Given the description of an element on the screen output the (x, y) to click on. 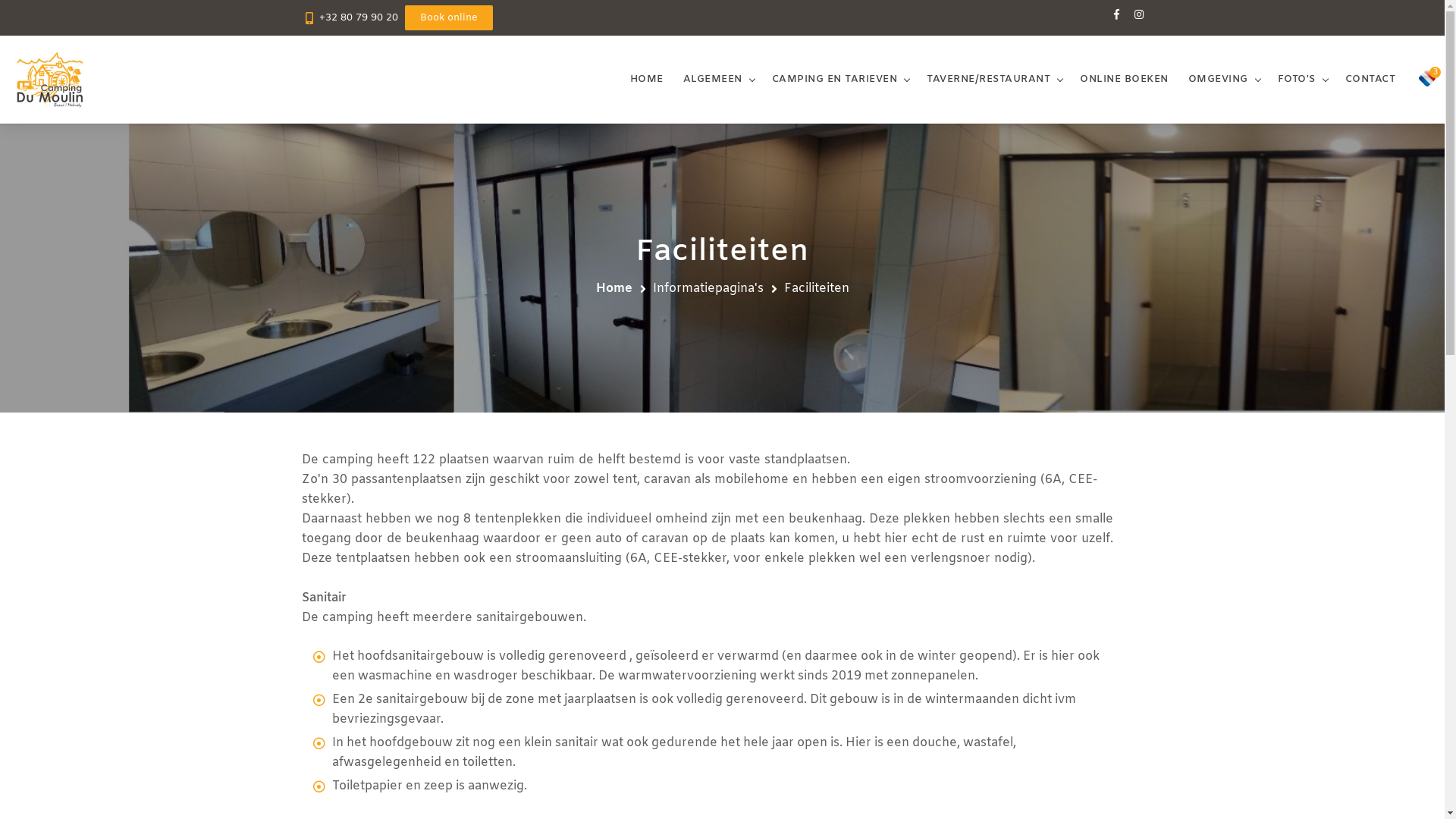
ALGEMEEN Element type: text (711, 79)
Book online Element type: text (448, 17)
+32 80 79 90 20 Element type: text (357, 17)
OMGEVING Element type: text (1217, 79)
CAMPING EN TARIEVEN Element type: text (834, 79)
CONTACT Element type: text (1370, 79)
TAVERNE/RESTAURANT Element type: text (988, 79)
HOME Element type: text (645, 79)
FOTO'S Element type: text (1295, 79)
Home Element type: text (614, 288)
3 Element type: text (1426, 77)
ONLINE BOEKEN Element type: text (1123, 79)
